Given the description of an element on the screen output the (x, y) to click on. 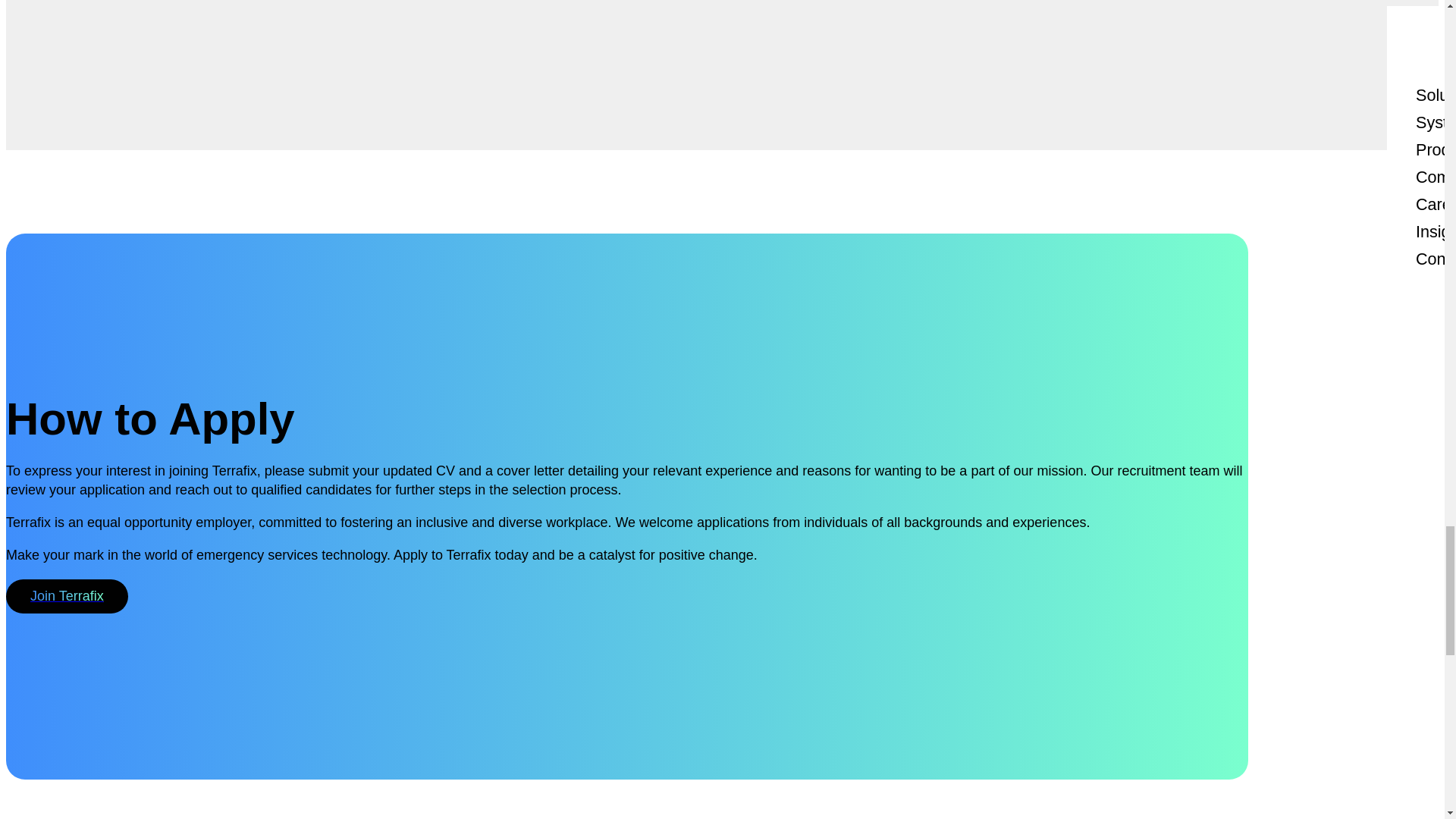
Join Terrafix (66, 596)
